Given the description of an element on the screen output the (x, y) to click on. 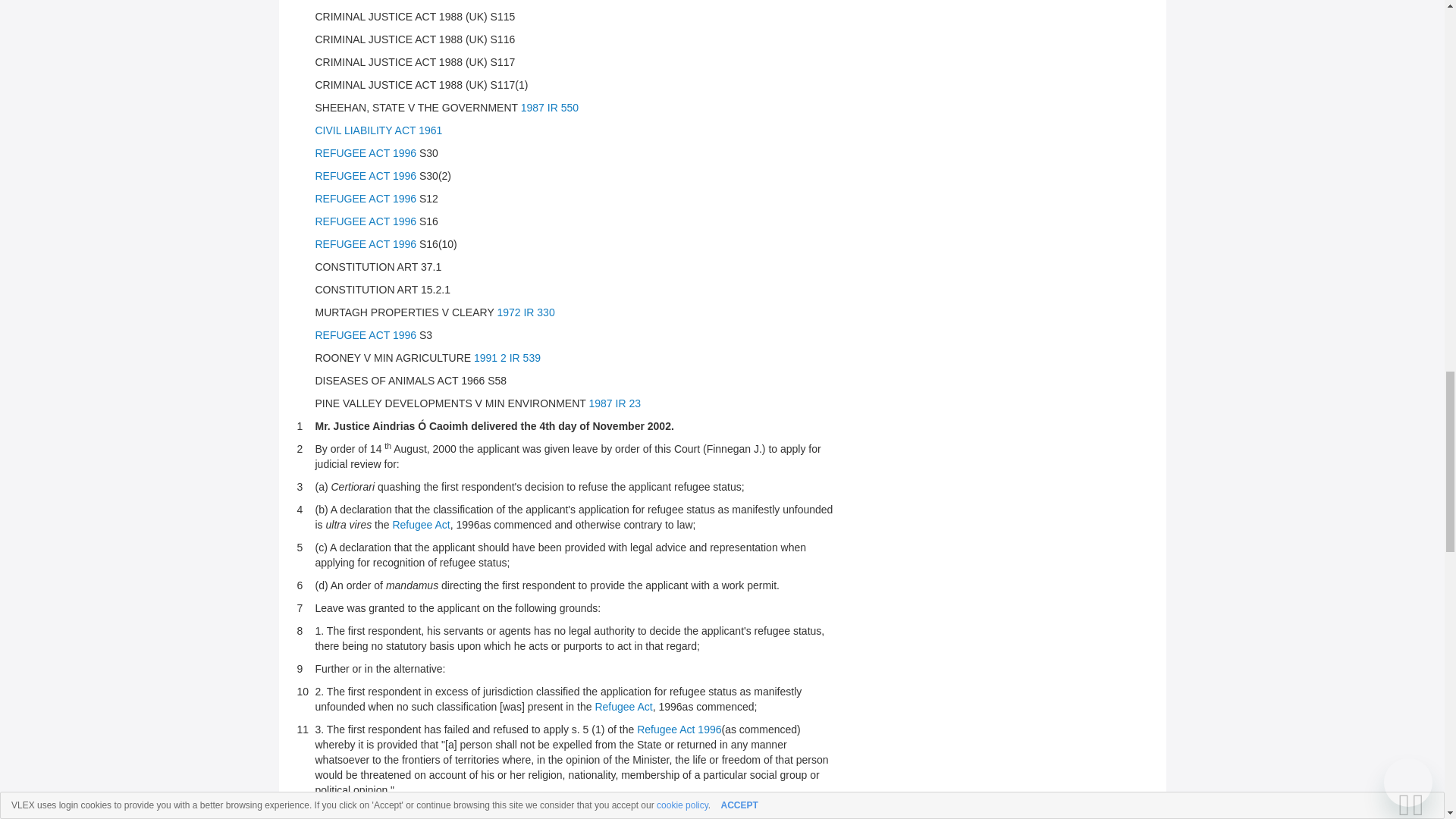
REFUGEE ACT 1996 (365, 335)
CIVIL LIABILITY ACT 1961 (378, 130)
Refugee Act 1996 (678, 729)
1991 2 IR 539 (507, 357)
REFUGEE ACT 1996 (365, 244)
REFUGEE ACT 1996 (365, 175)
1987 IR 23 (614, 403)
REFUGEE ACT 1996 (365, 198)
1987 IR 550 (549, 107)
Refugee Act (420, 524)
1972 IR 330 (525, 312)
REFUGEE ACT 1996 (365, 221)
Refugee Act (623, 706)
REFUGEE ACT 1996 (365, 152)
